Given the description of an element on the screen output the (x, y) to click on. 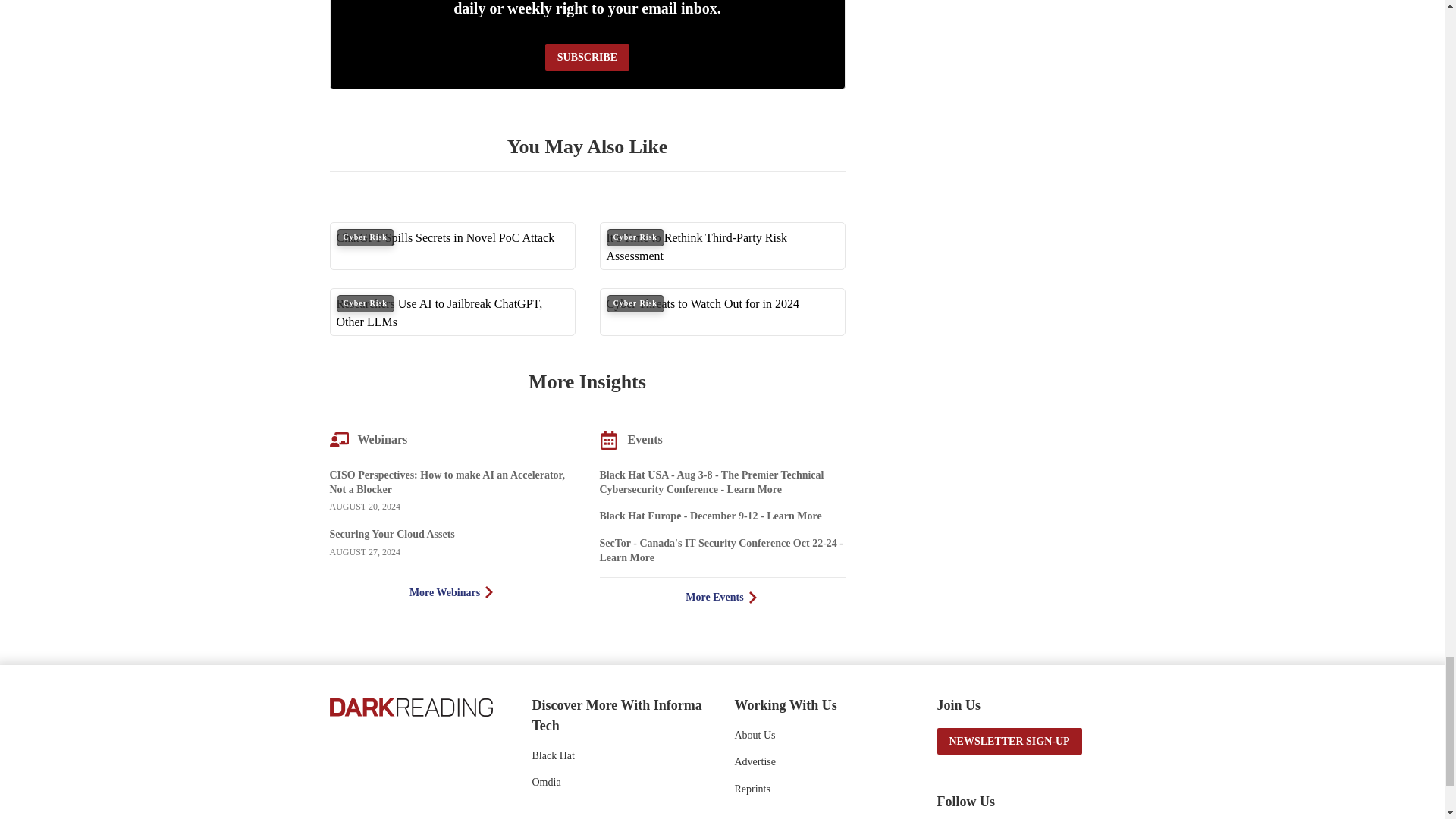
Logo (410, 705)
